Given the description of an element on the screen output the (x, y) to click on. 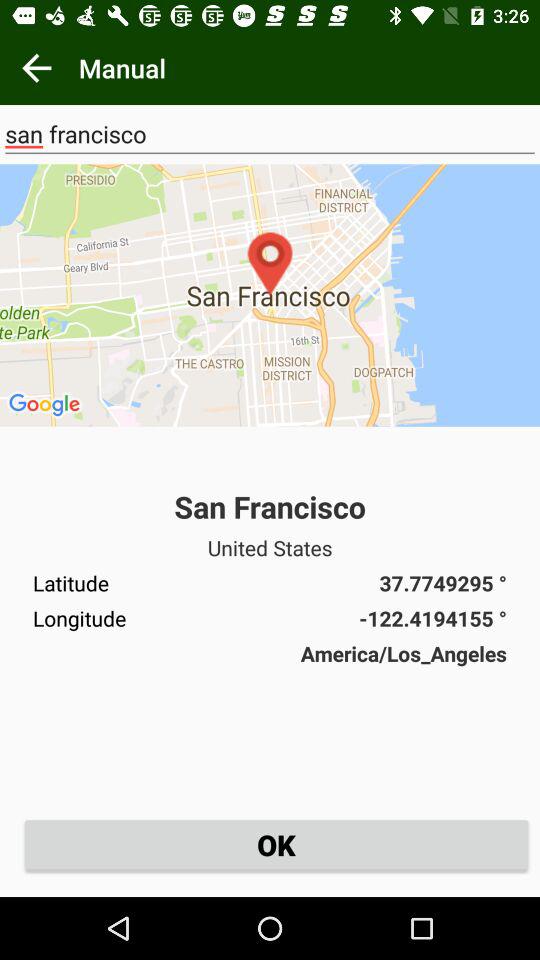
press ok (276, 844)
